Given the description of an element on the screen output the (x, y) to click on. 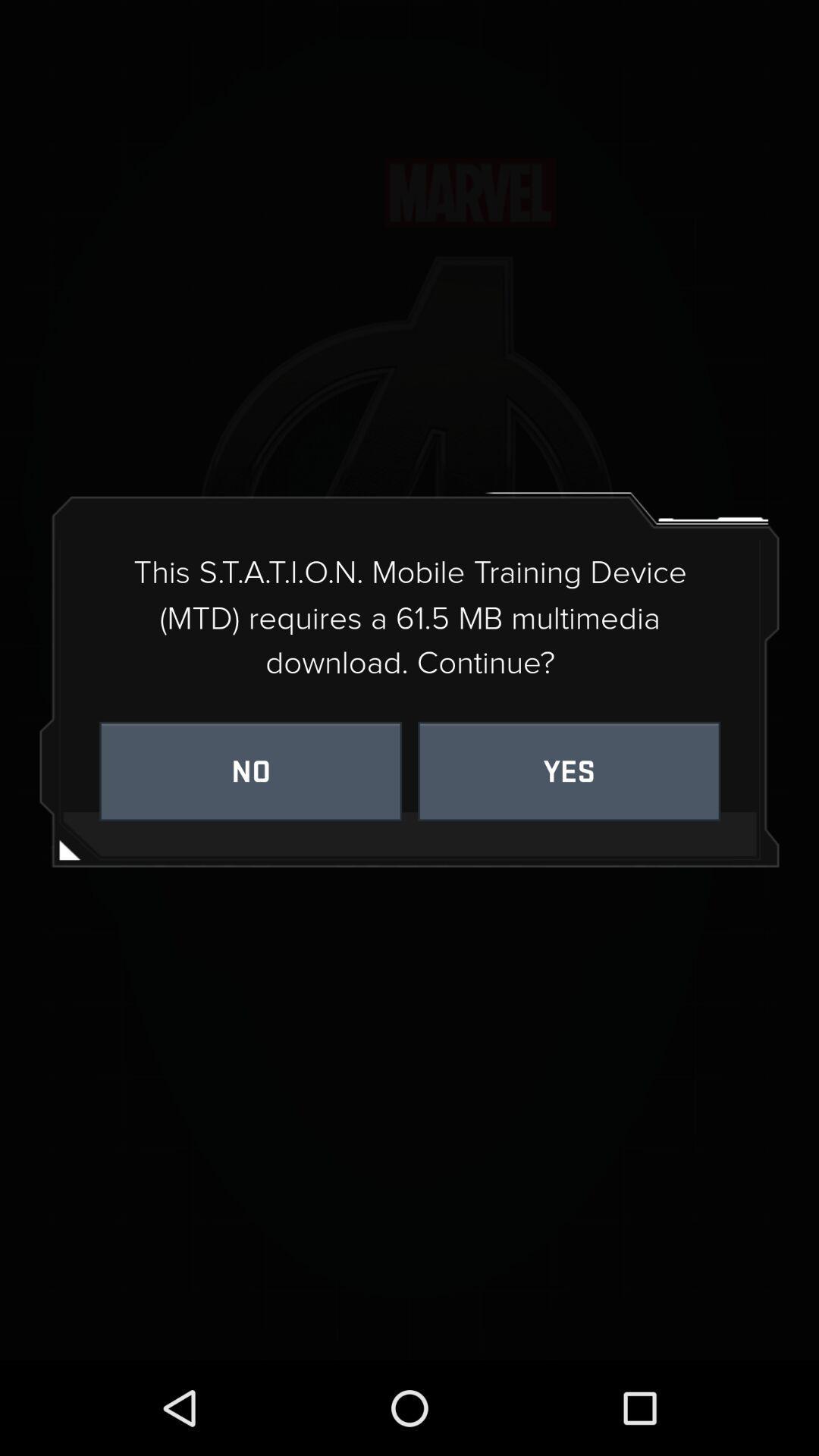
scroll until yes (569, 771)
